Given the description of an element on the screen output the (x, y) to click on. 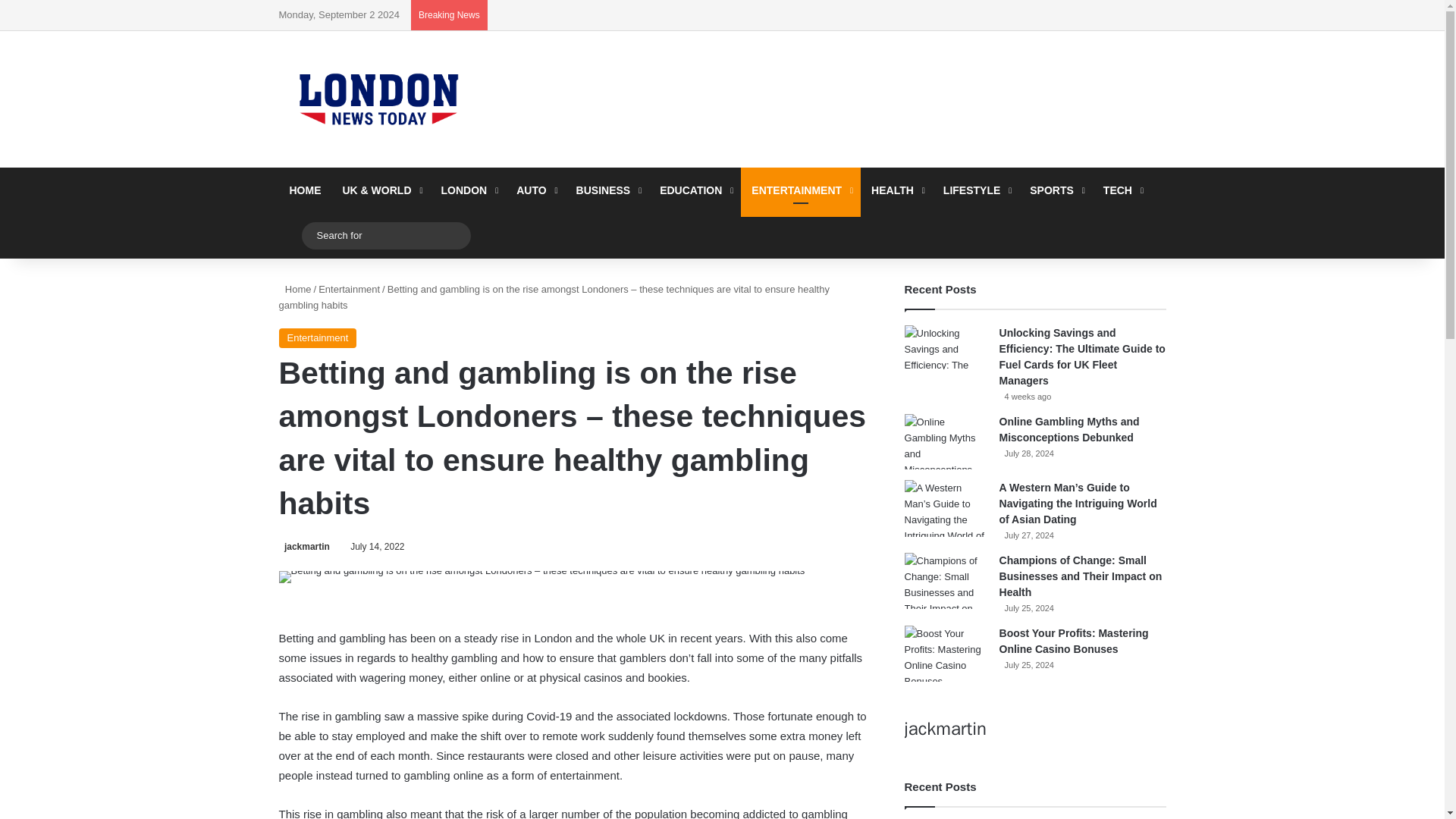
Entertainment (317, 338)
Search for (454, 235)
HEALTH (896, 189)
jackmartin (304, 546)
ENTERTAINMENT (800, 189)
LIFESTYLE (976, 189)
Home (295, 288)
EDUCATION (695, 189)
londonnewstime (377, 99)
SPORTS (1056, 189)
